Given the description of an element on the screen output the (x, y) to click on. 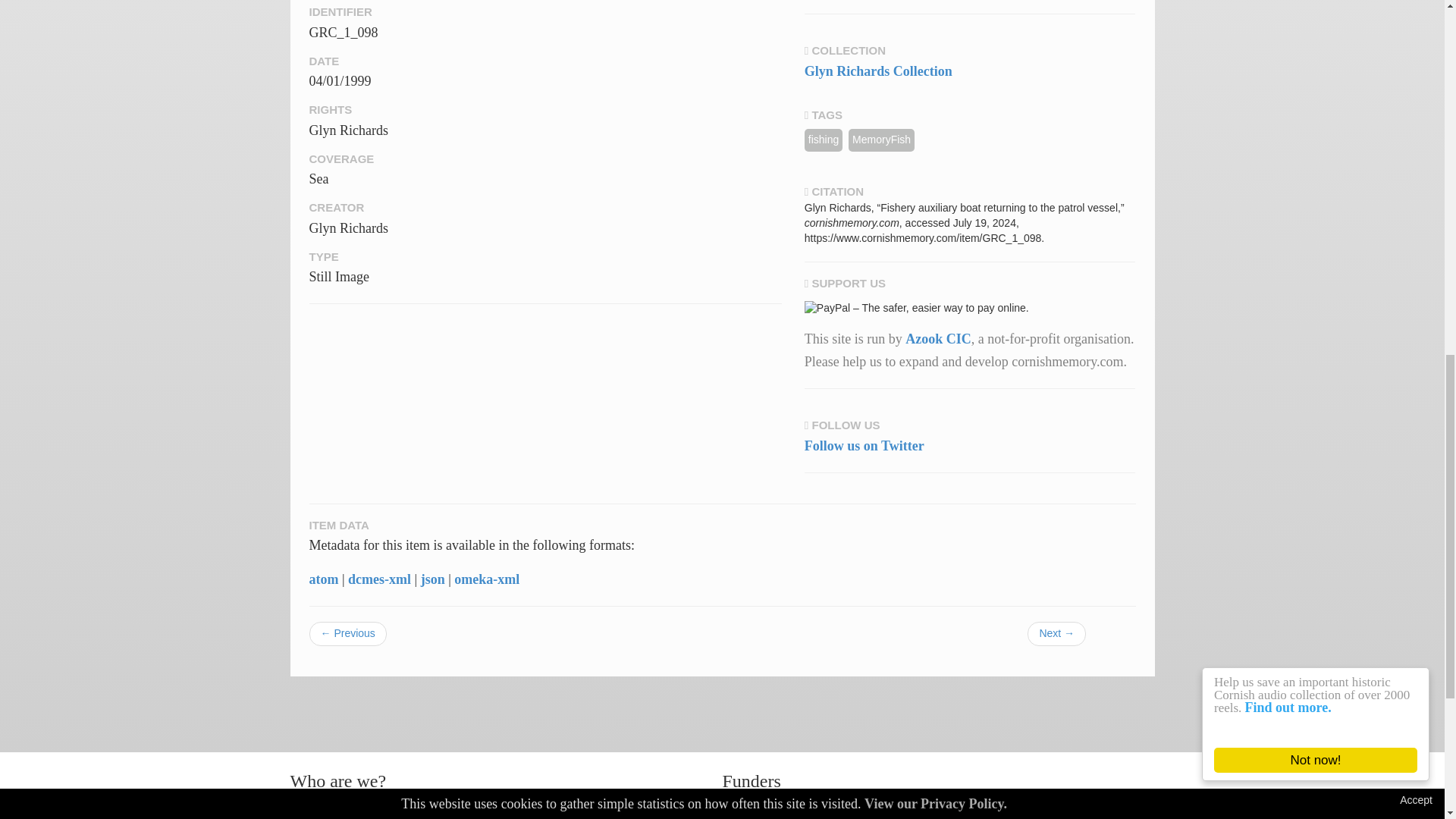
atom (323, 579)
Follow us on Twitter (864, 445)
dcmes-xml (378, 579)
Glyn Richards Collection (878, 70)
json (432, 579)
fishing (824, 139)
Azook CIC (938, 338)
Heritage Lottery Fund (837, 813)
MemoryFish (881, 139)
omeka-xml (486, 579)
